Given the description of an element on the screen output the (x, y) to click on. 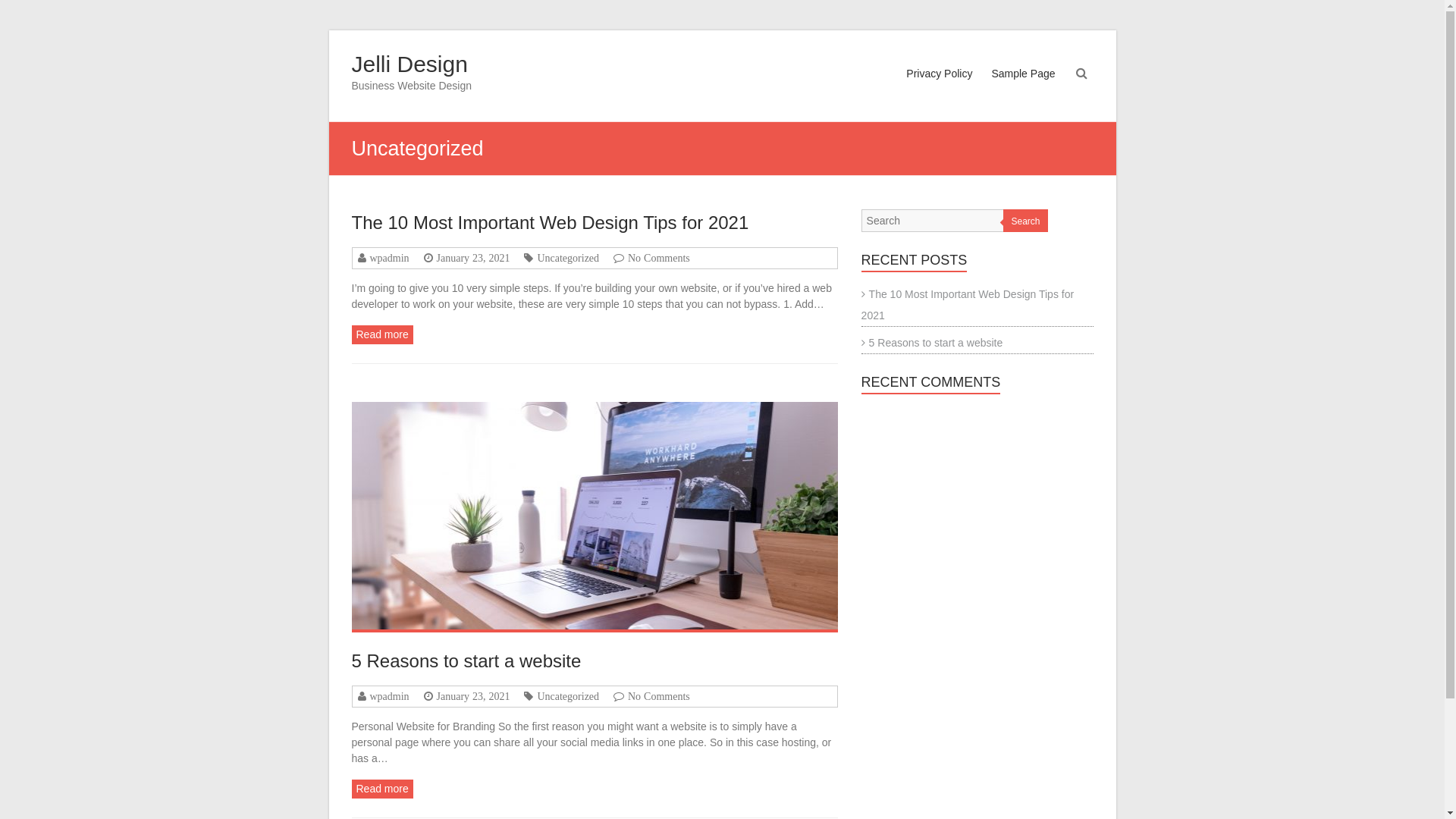
No Comments Element type: text (657, 695)
5 Reasons to start a website Element type: text (466, 660)
Uncategorized Element type: text (566, 695)
The 10 Most Important Web Design Tips for 2021 Element type: text (550, 222)
Privacy Policy Element type: text (939, 87)
Jelli Design Element type: text (409, 63)
wpadmin Element type: text (386, 257)
January 23, 2021 Element type: text (470, 695)
Skip to content Element type: text (327, 29)
Read more Element type: text (382, 788)
Search Element type: text (21, 11)
January 23, 2021 Element type: text (470, 257)
Read more Element type: text (382, 334)
Uncategorized Element type: text (566, 257)
Search Element type: text (1025, 220)
5 Reasons to start a website Element type: hover (594, 515)
5 Reasons to start a website Element type: text (932, 342)
The 10 Most Important Web Design Tips for 2021 Element type: text (967, 304)
No Comments Element type: text (657, 257)
wpadmin Element type: text (386, 695)
Sample Page Element type: text (1022, 87)
